Given the description of an element on the screen output the (x, y) to click on. 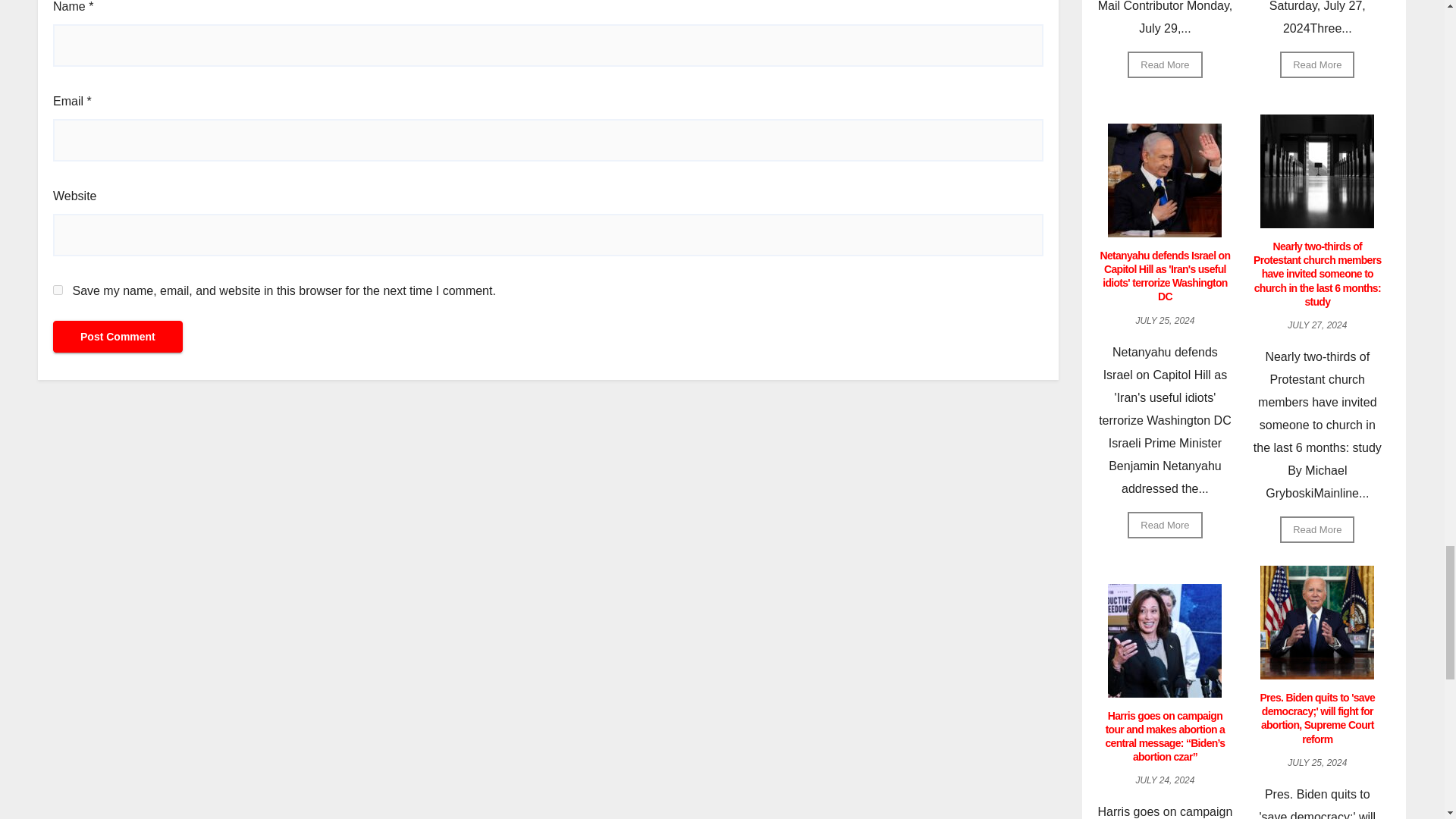
Post Comment (117, 336)
yes (57, 289)
